Given the description of an element on the screen output the (x, y) to click on. 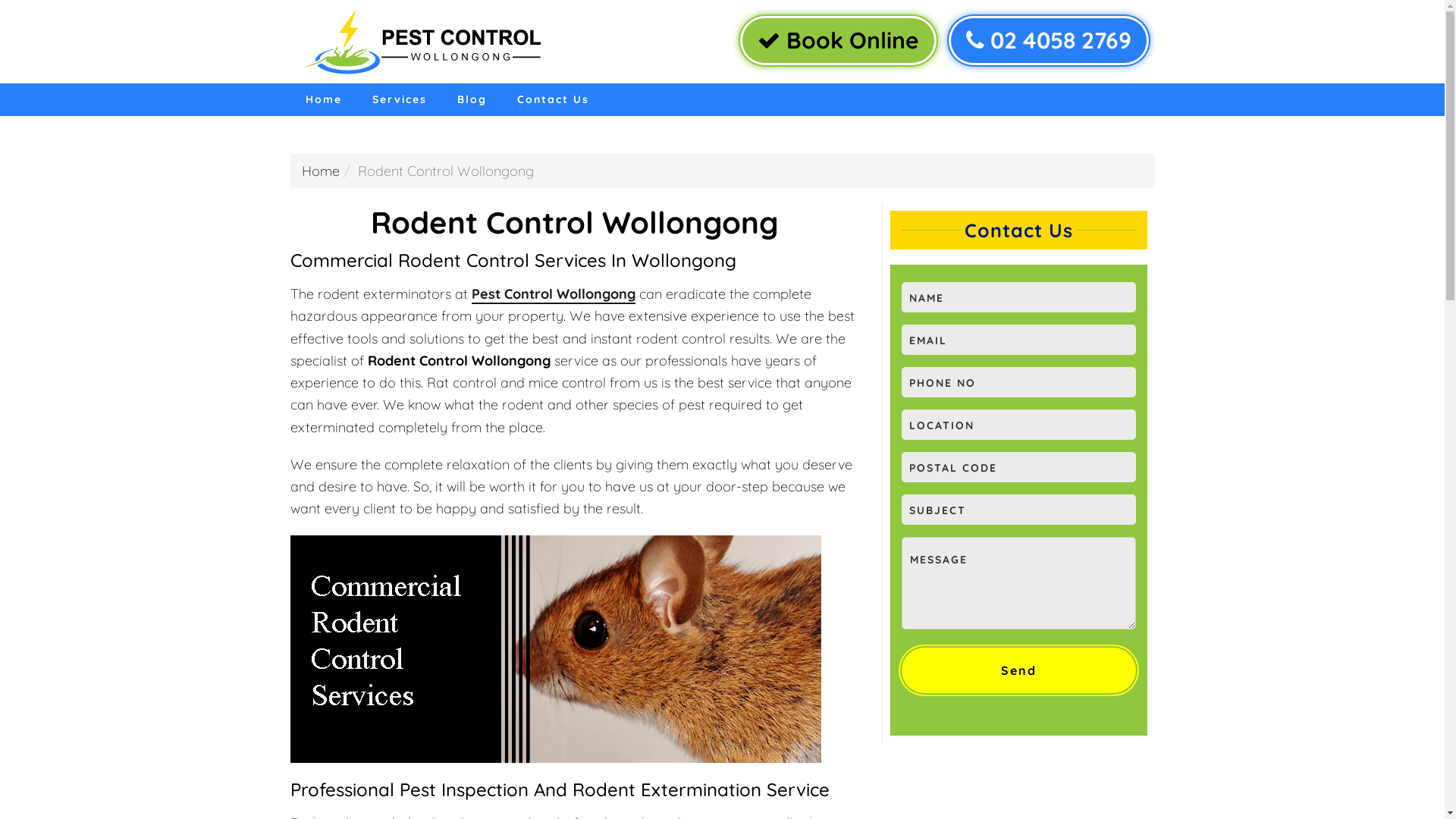
Contact Us Element type: text (553, 99)
Send Element type: text (1017, 670)
Home Element type: text (320, 170)
Book Online Element type: text (838, 40)
Services Element type: text (398, 99)
02 4058 2769 Element type: text (1047, 40)
Pest Control Wollongong Element type: text (553, 294)
Blog Element type: text (471, 99)
Home Element type: text (322, 99)
